Given the description of an element on the screen output the (x, y) to click on. 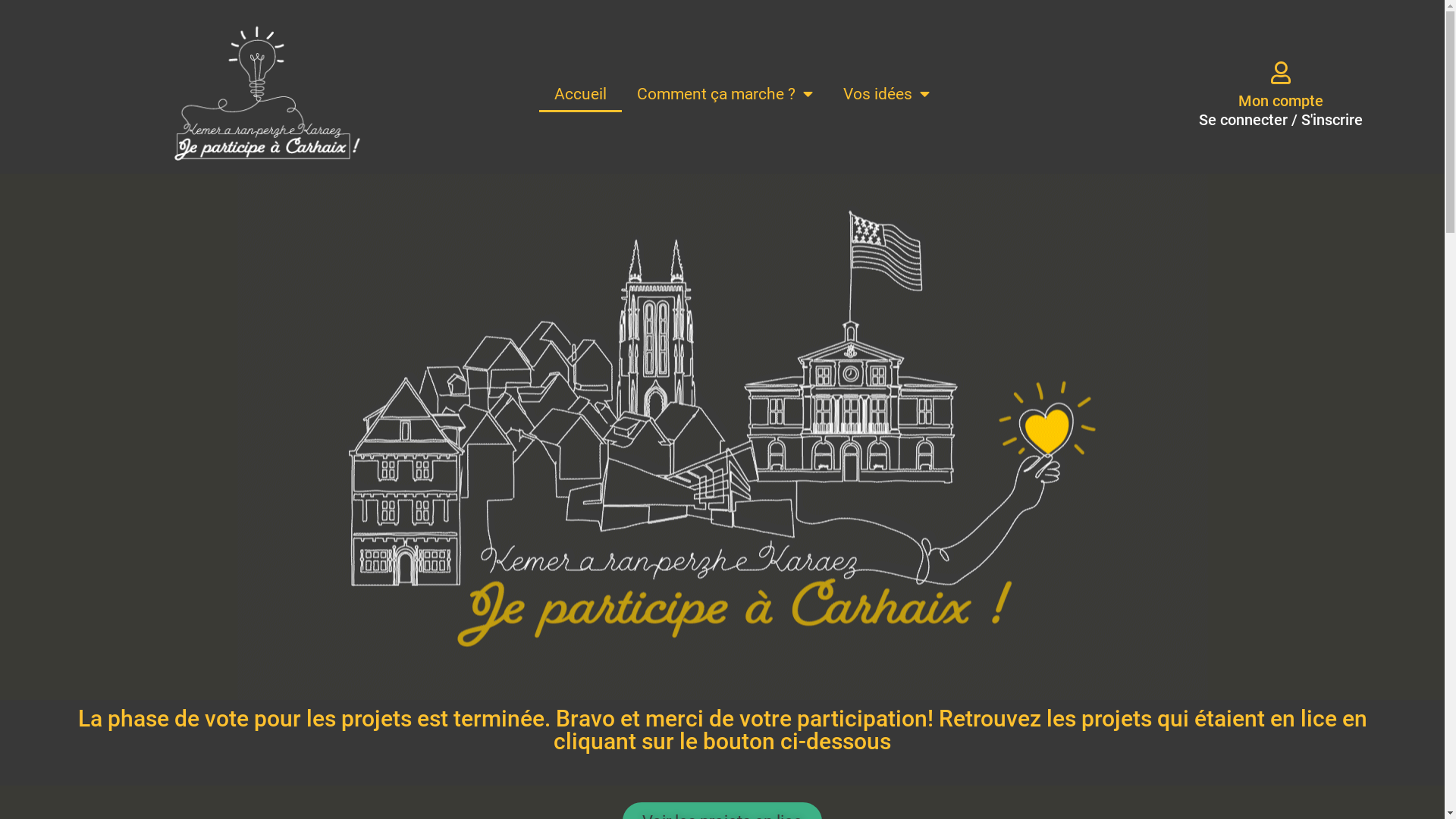
Se connecter / S'inscrire Element type: text (1280, 119)
Mon compte Element type: text (1280, 100)
Accueil Element type: text (580, 94)
